Given the description of an element on the screen output the (x, y) to click on. 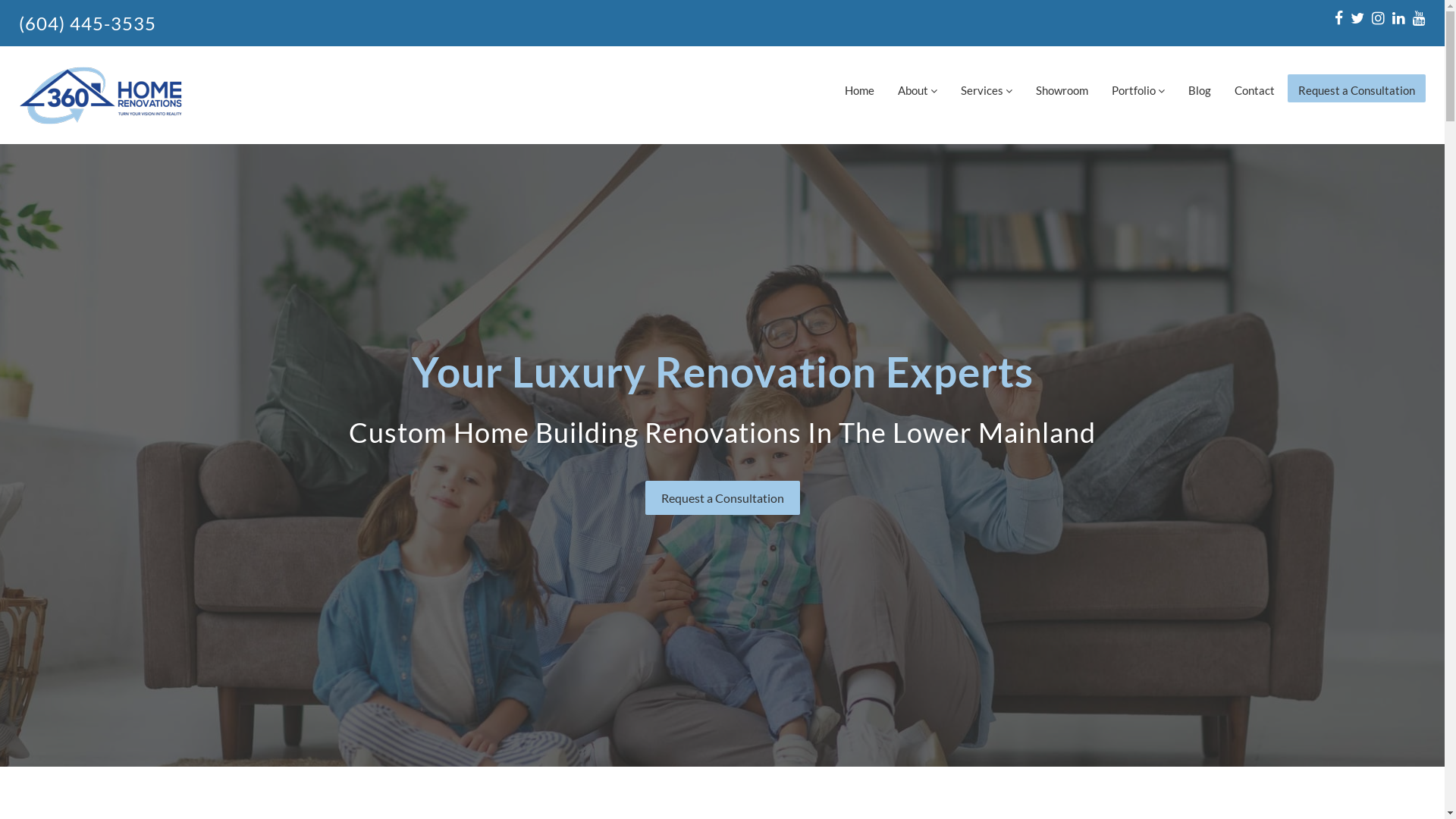
Blog Element type: text (1199, 88)
About Element type: text (917, 88)
(604) 445-3535 Element type: text (87, 23)
Showroom Element type: text (1061, 88)
Home Element type: text (859, 88)
Request a Consultation Element type: text (1356, 88)
Portfolio Element type: text (1138, 88)
Request a Consultation Element type: text (721, 497)
Contact Element type: text (1254, 88)
Services Element type: text (986, 88)
